Given the description of an element on the screen output the (x, y) to click on. 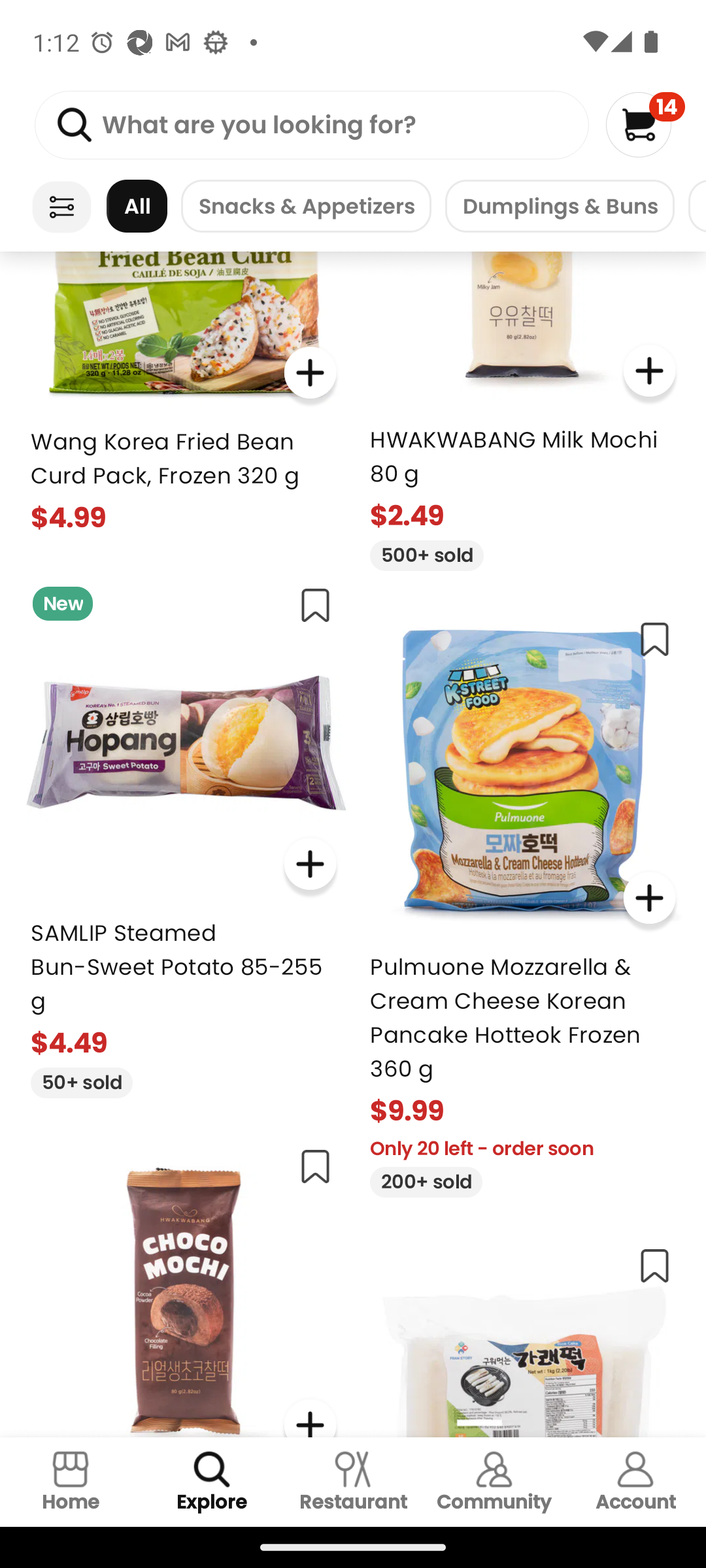
What are you looking for? (311, 124)
14 (644, 124)
All (136, 206)
Snacks & Appetizers (305, 206)
Dumplings & Buns (559, 206)
HWAKWABANG Milk Mochi 80 g $2.49 500+ sold (522, 410)
Home (70, 1482)
Explore (211, 1482)
Restaurant (352, 1482)
Community (493, 1482)
Account (635, 1482)
